Given the description of an element on the screen output the (x, y) to click on. 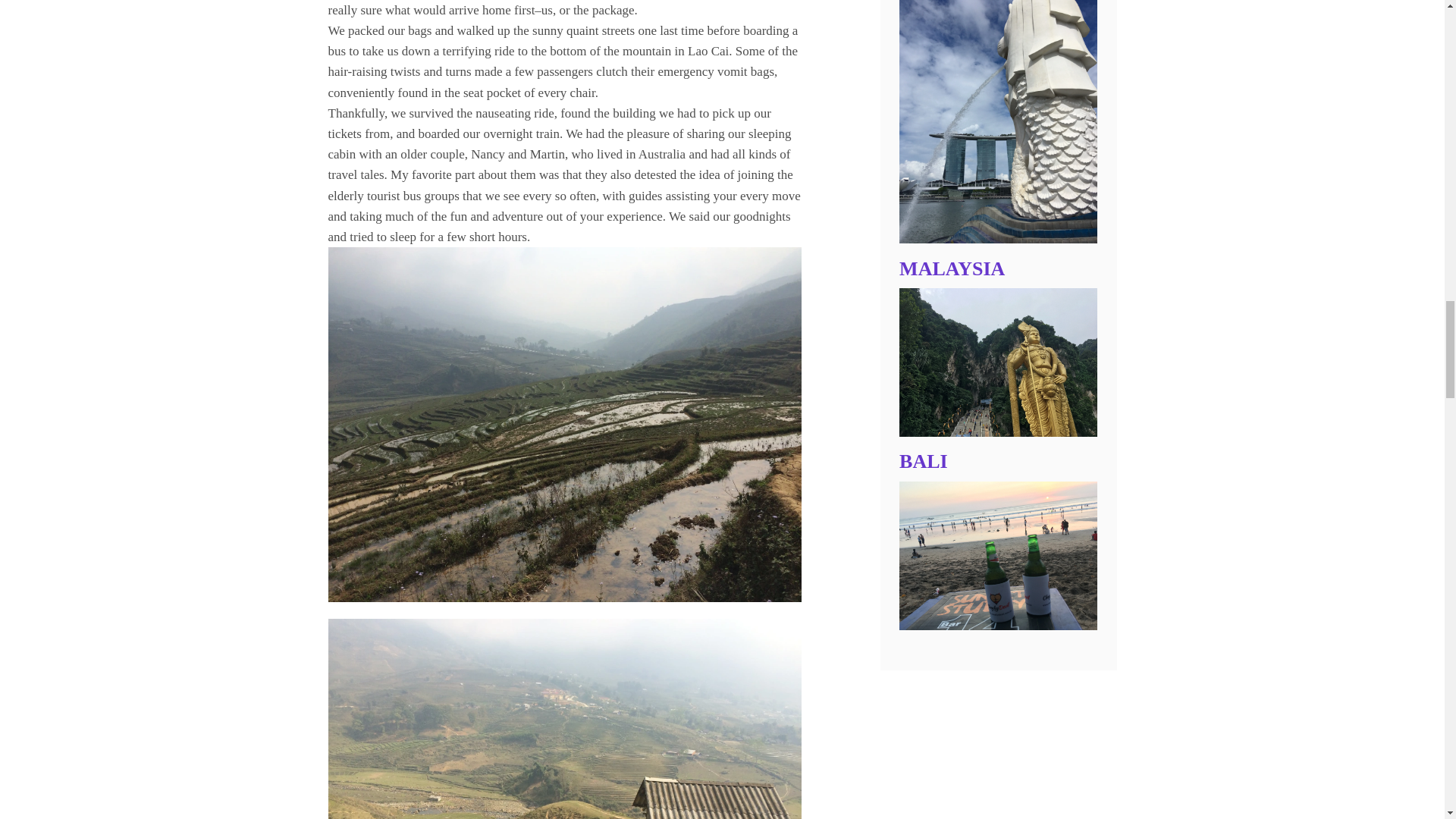
One Day in Singapore (998, 238)
Bali (998, 625)
Malaysia (998, 431)
BALI (923, 461)
MALAYSIA (951, 268)
